Given the description of an element on the screen output the (x, y) to click on. 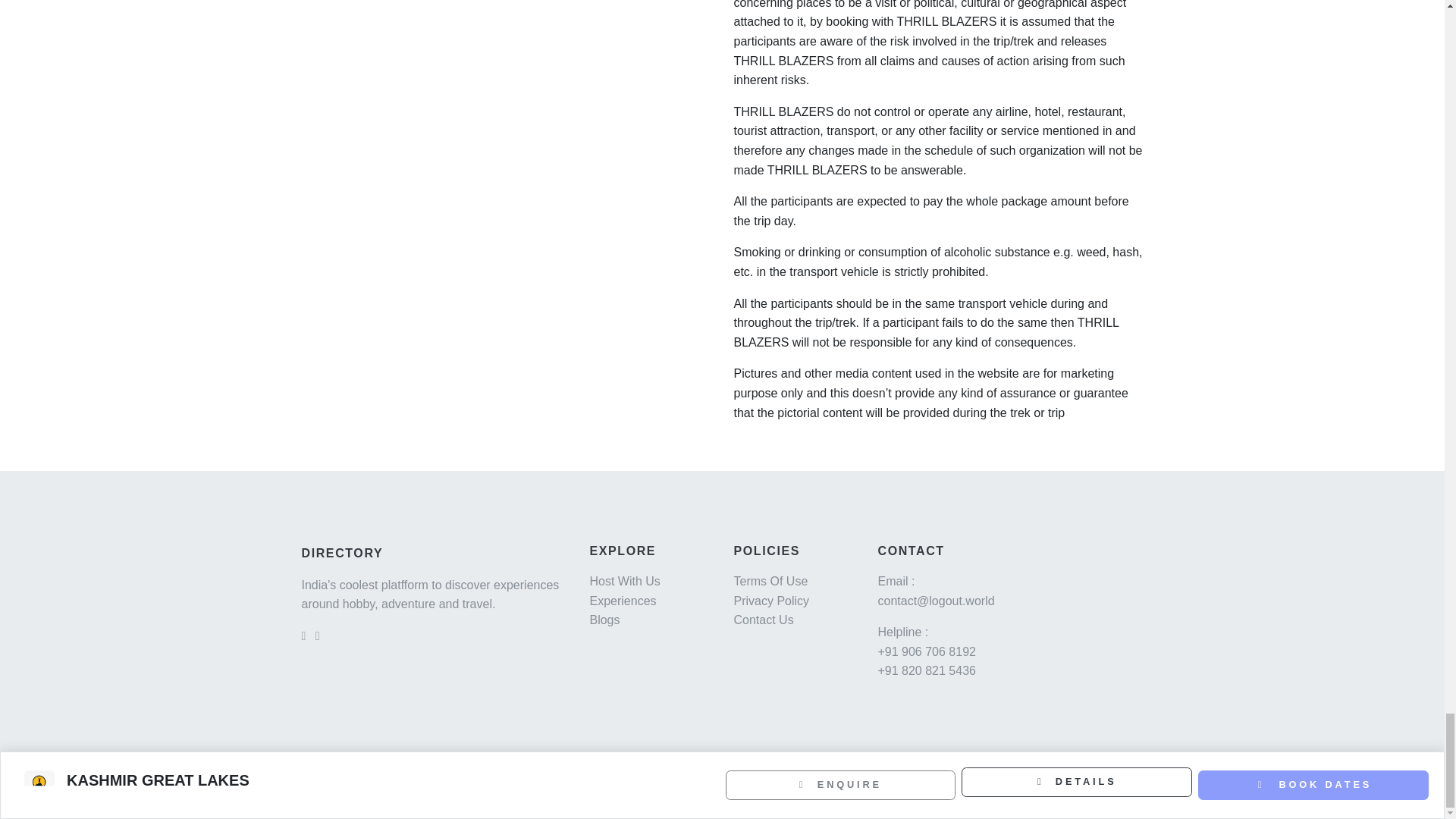
Blogs (604, 619)
Terms Of Use (770, 581)
Experiences (622, 600)
Host With Us (624, 581)
